Given the description of an element on the screen output the (x, y) to click on. 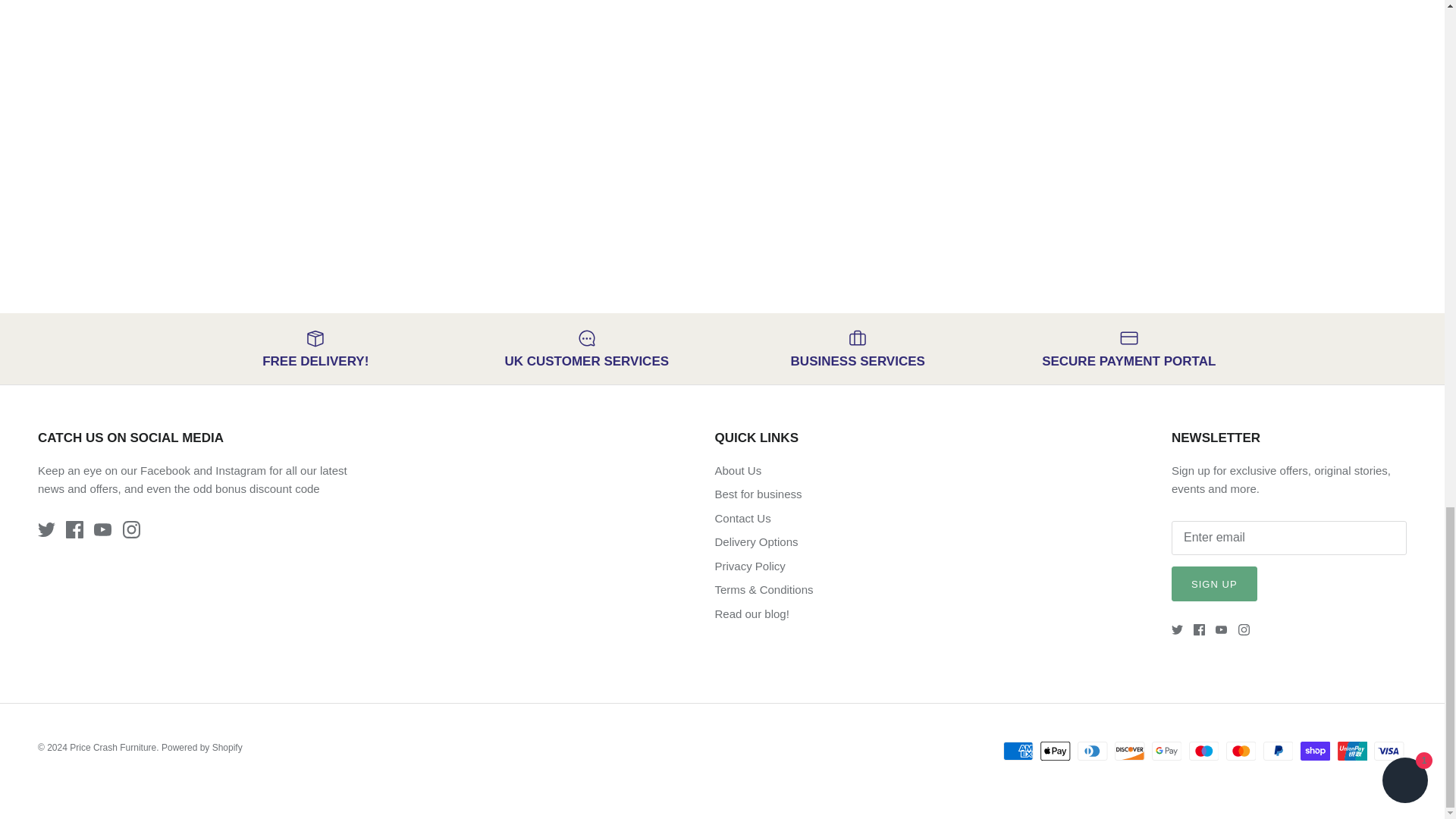
Twitter (1177, 629)
Facebook (1199, 629)
Youtube (1221, 629)
Instagram (1244, 629)
Youtube (103, 529)
Facebook (73, 529)
Instagram (130, 529)
Twitter (46, 529)
